Given the description of an element on the screen output the (x, y) to click on. 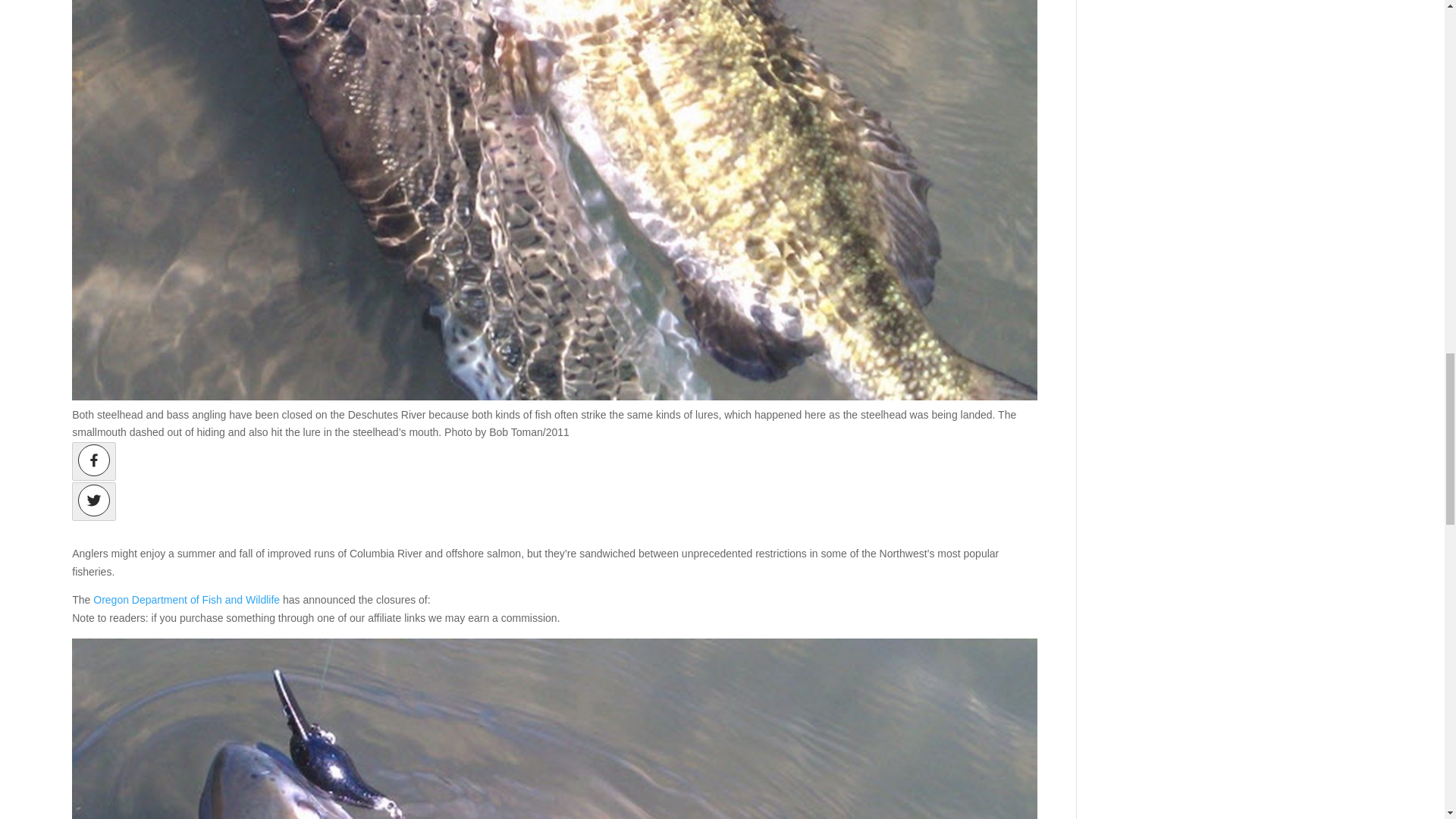
0 Twitter shares (93, 501)
0 Facebook shares (93, 461)
